Given the description of an element on the screen output the (x, y) to click on. 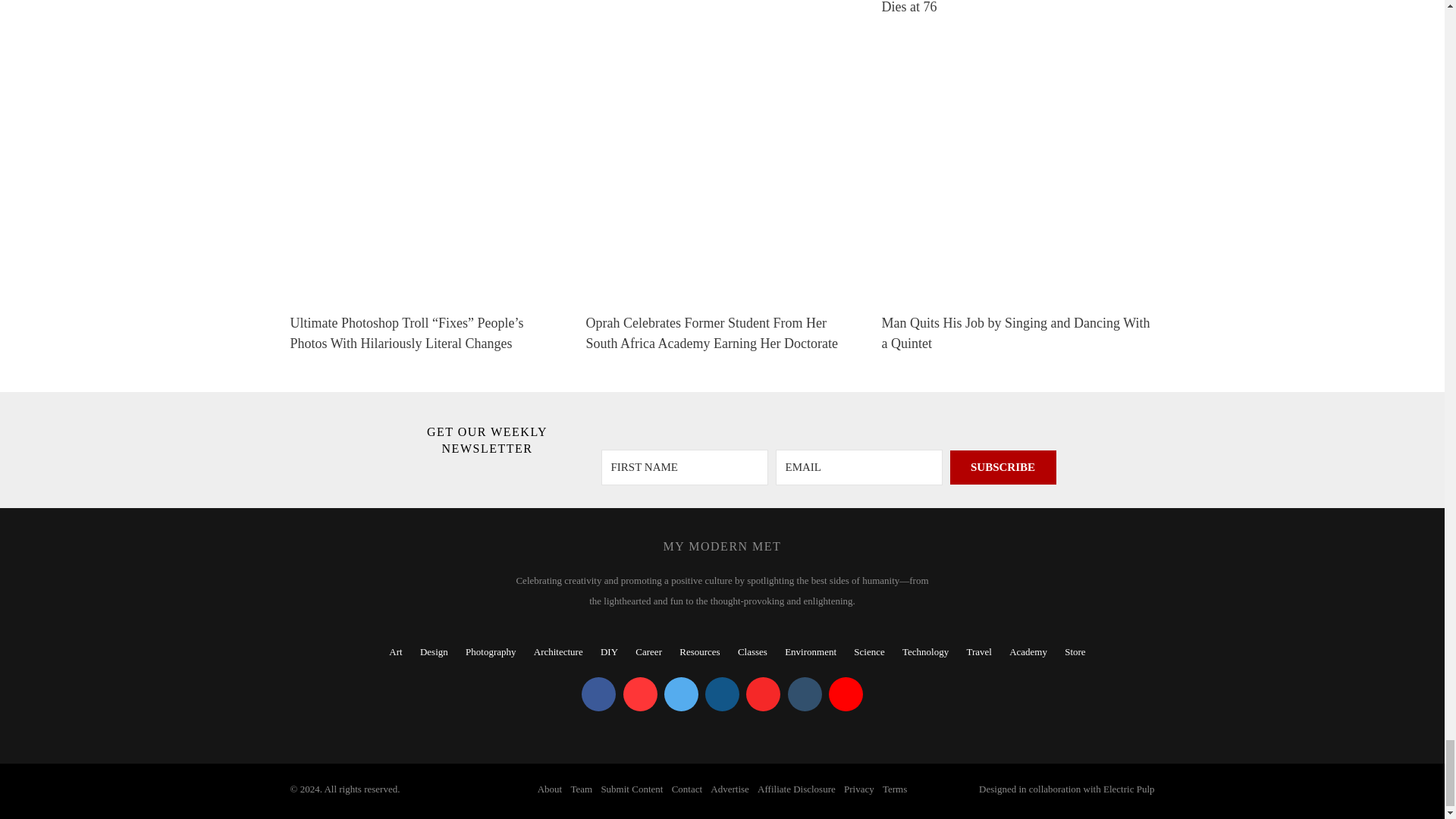
My Modern Met on Pinterest (640, 694)
My Modern Met on Instagram (721, 694)
My Modern Met on Facebook (597, 694)
My Modern Met on Twitter (680, 694)
My Modern Met on YouTube (845, 694)
My Modern Met on Tumblr (804, 694)
